Given the description of an element on the screen output the (x, y) to click on. 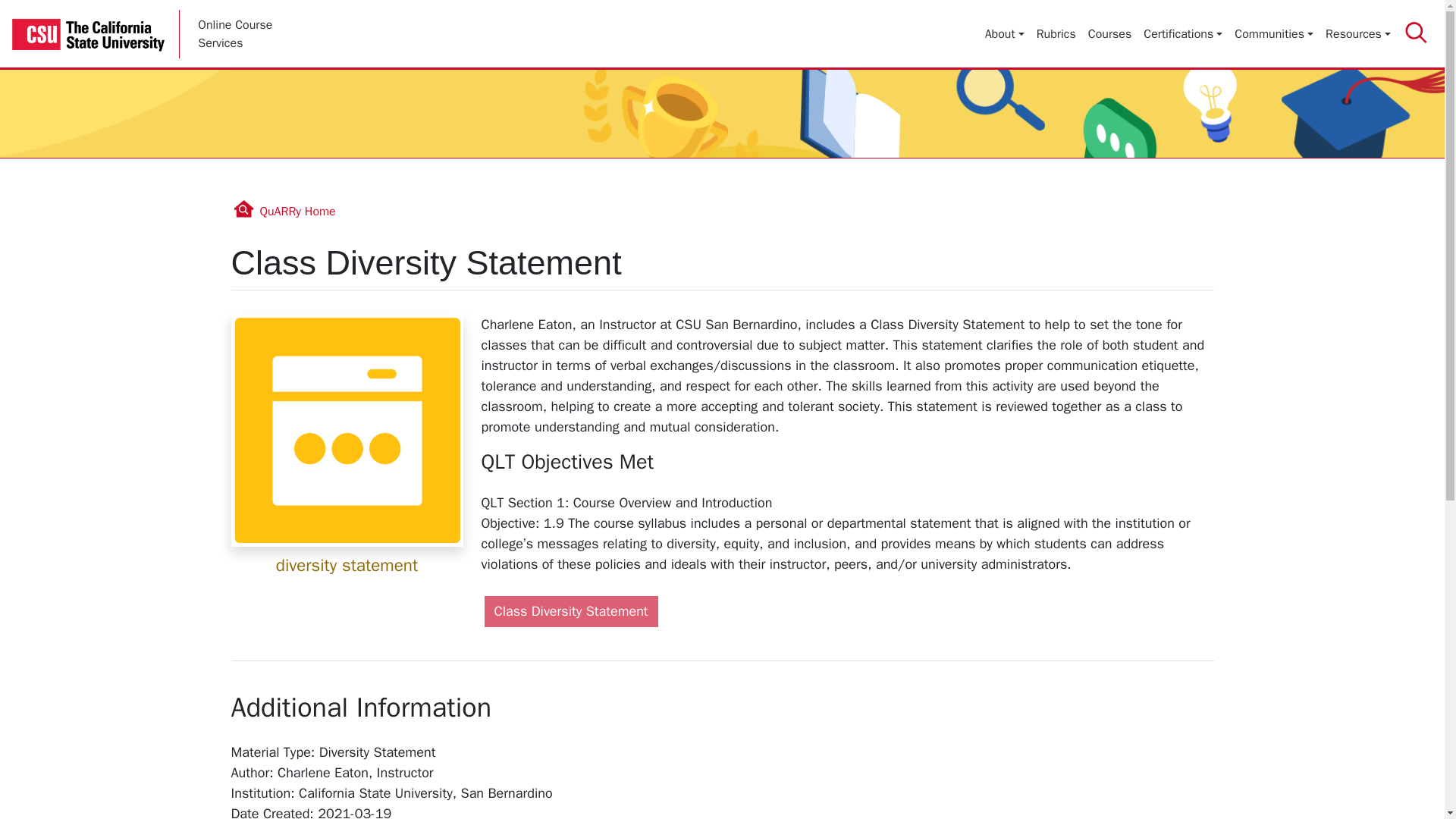
Expand menu About (1004, 33)
Quality Learning and Teaching (491, 502)
Certifications (1182, 33)
Resources (1357, 33)
calstate.edu (93, 34)
Quality Learning and Teaching (497, 461)
Communities (1273, 33)
Expand menu Resources (1357, 33)
Courses (1109, 33)
About (1004, 33)
Rubrics (1055, 33)
Class Diversity Statement (235, 33)
Expand menu Communities (570, 611)
QuARRy Home (1273, 33)
